Given the description of an element on the screen output the (x, y) to click on. 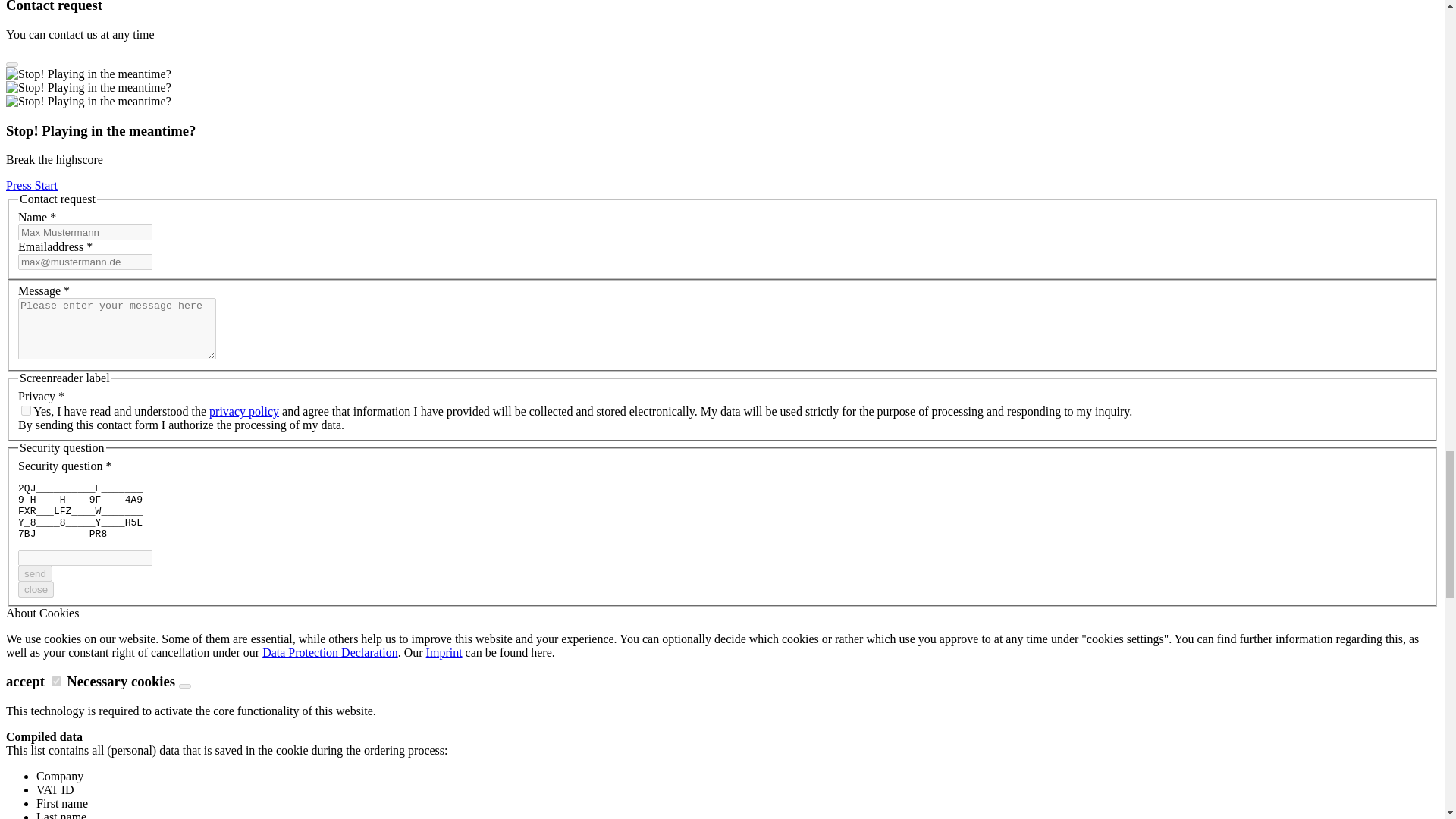
send (34, 573)
1 (25, 410)
